Given the description of an element on the screen output the (x, y) to click on. 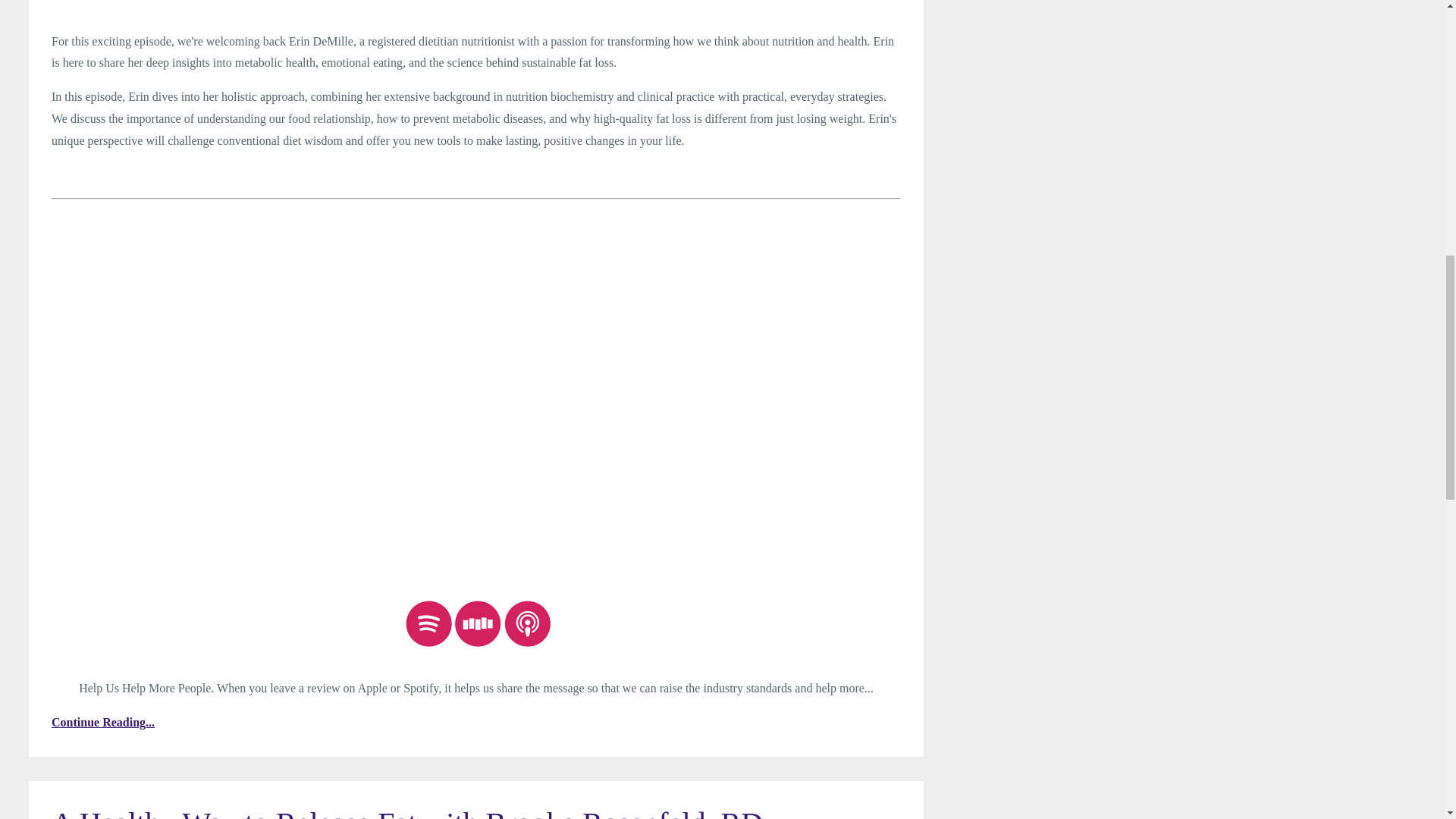
A Healthy Way to Release Fat with Brooke Rosenfeld, RD (406, 812)
Continue Reading... (475, 722)
